Given the description of an element on the screen output the (x, y) to click on. 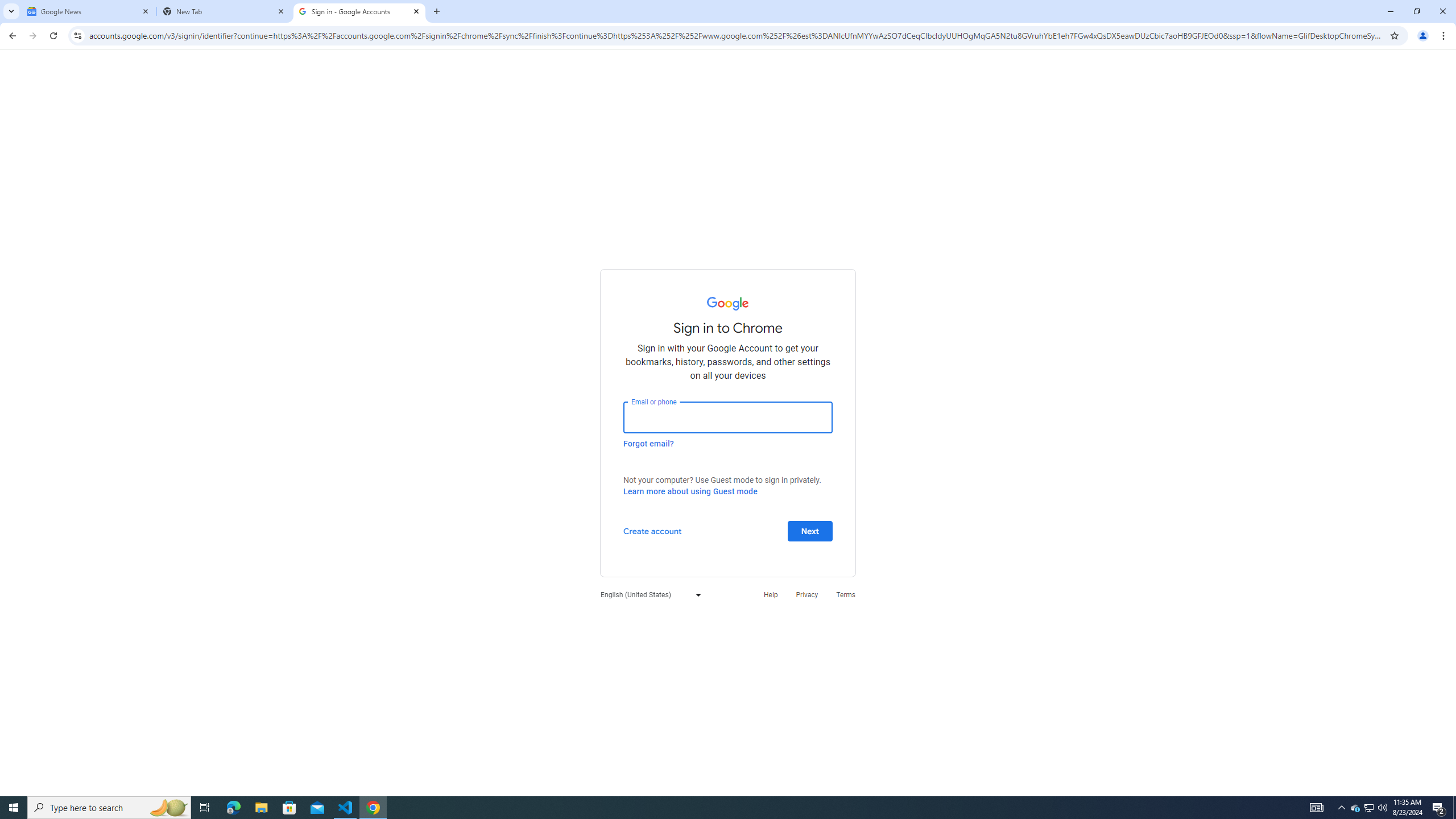
Create account (651, 530)
New Tab (224, 11)
Google News (88, 11)
